Given the description of an element on the screen output the (x, y) to click on. 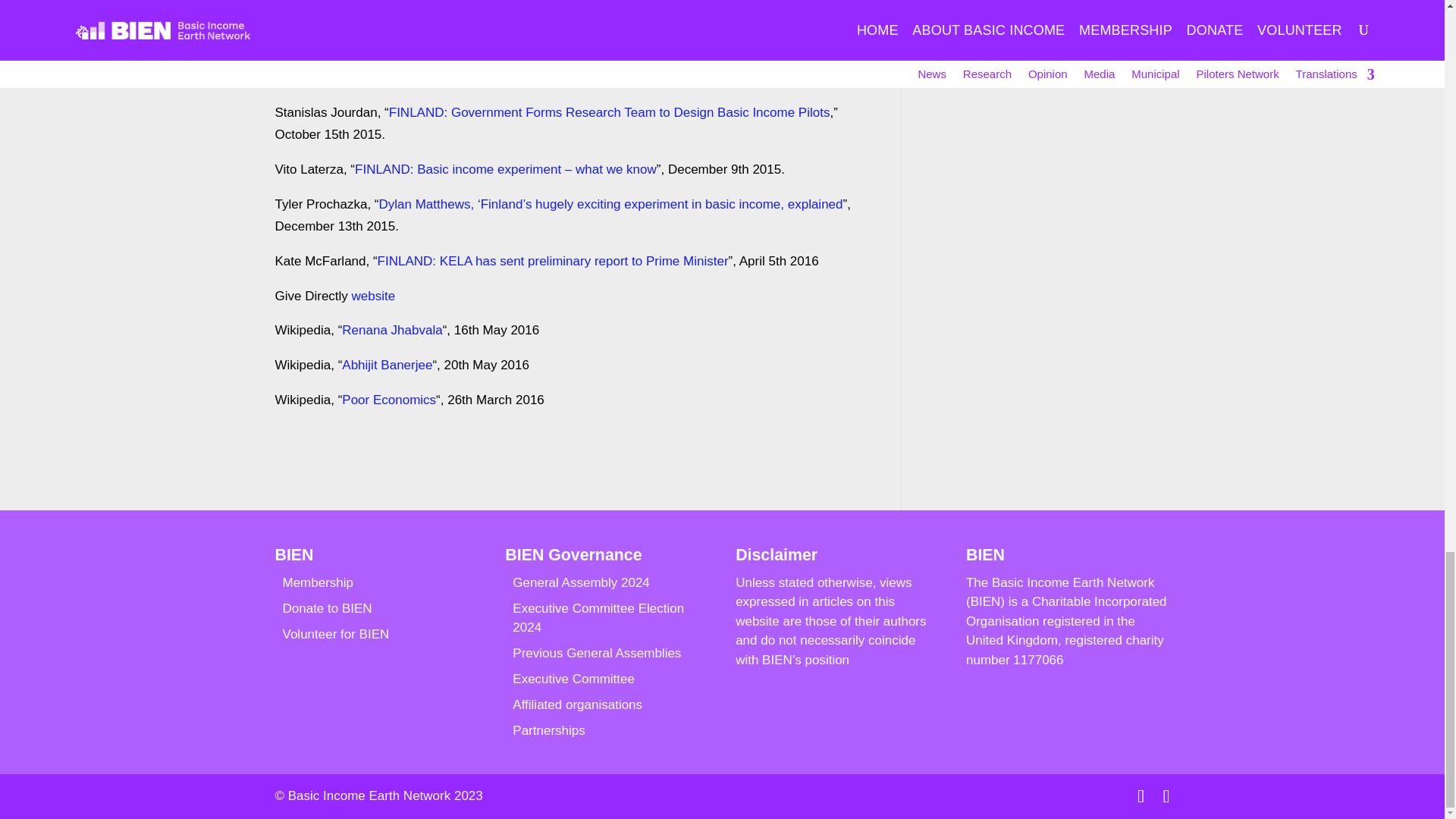
Renana Jhabvala (392, 329)
FINLAND: KELA has sent preliminary report to Prime Minister (553, 260)
Abhijit Banerjee (387, 364)
website (374, 296)
Poor Economics (388, 400)
